Given the description of an element on the screen output the (x, y) to click on. 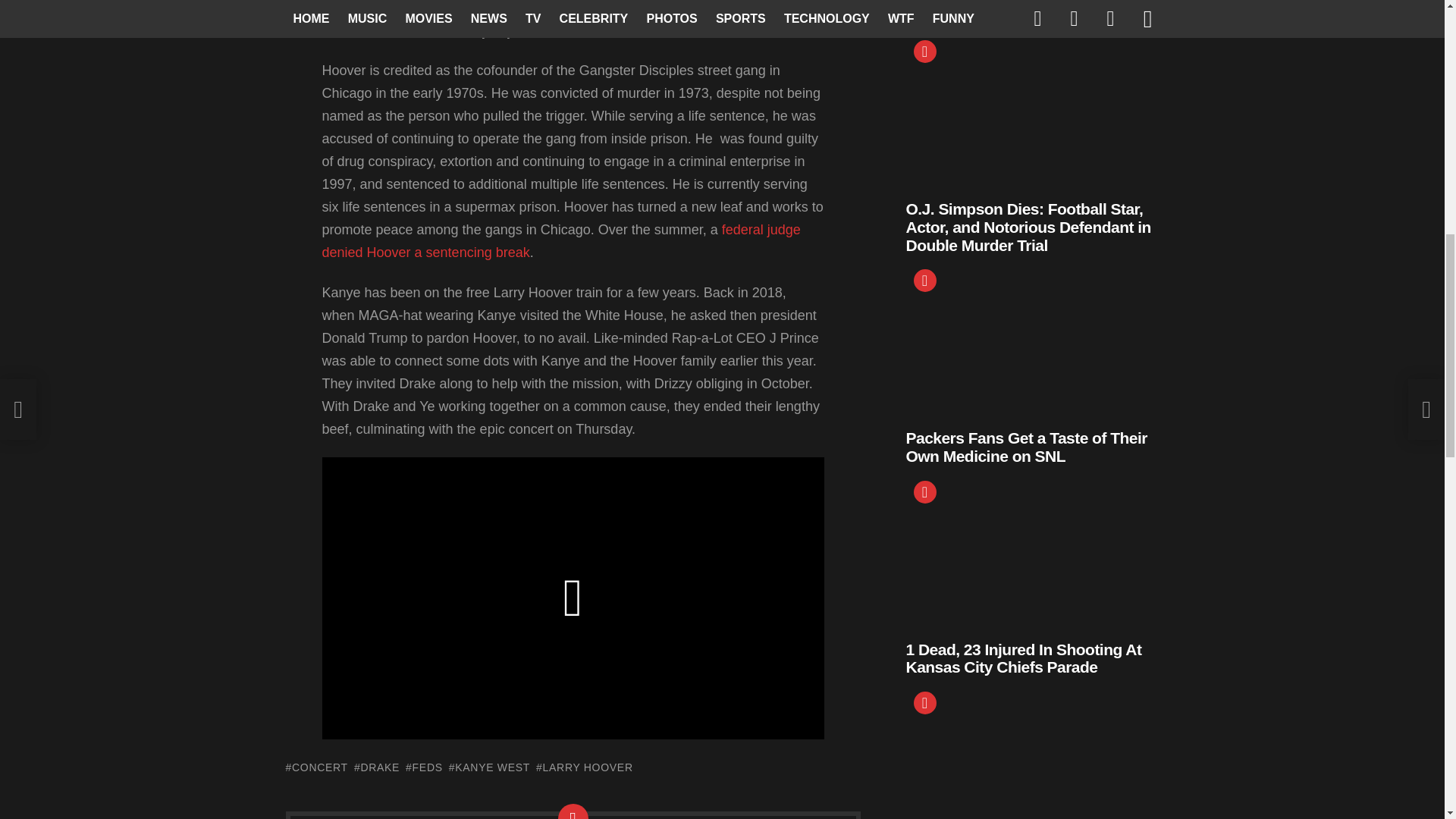
KANYE WEST (488, 767)
FEDS (424, 767)
federal judge denied Hoover a sentencing break (560, 240)
CONCERT (316, 767)
DRAKE (375, 767)
LARRY HOOVER (584, 767)
